Given the description of an element on the screen output the (x, y) to click on. 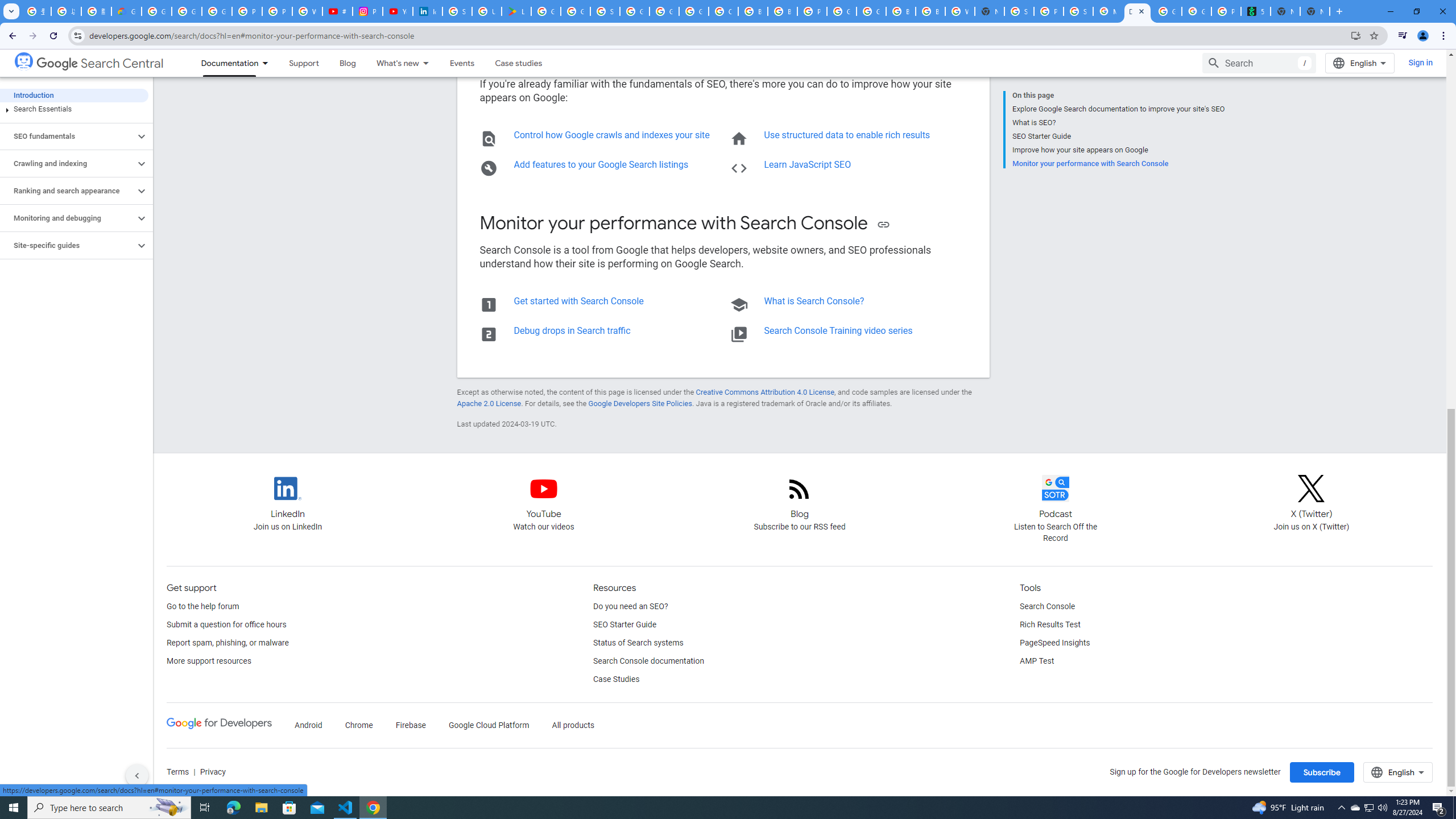
Browse Chrome as a guest - Computer - Google Chrome Help (900, 11)
Last Shelter: Survival - Apps on Google Play (515, 11)
LinkedIn feed for Google Search Central (287, 498)
Rich Results Test (1049, 624)
Twitter feed for Google Search Central (1310, 498)
Case studies (518, 62)
English (1397, 772)
Ranking and search appearance (67, 191)
Google Workspace - Specific Terms (575, 11)
AMP Test (1036, 661)
